Given the description of an element on the screen output the (x, y) to click on. 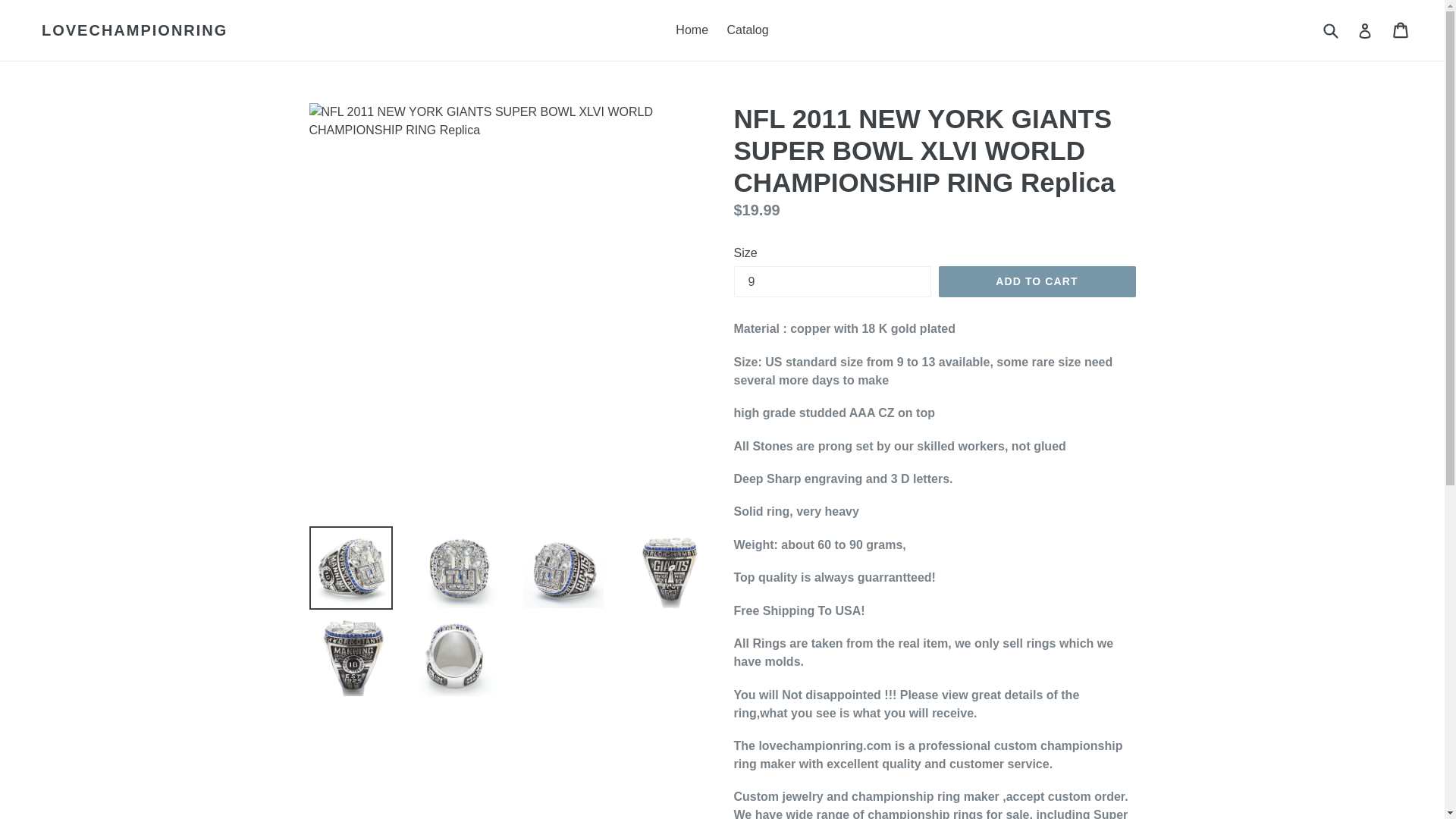
LOVECHAMPIONRING (134, 30)
ADD TO CART (1037, 282)
Home (692, 29)
Catalog (747, 29)
